Given the description of an element on the screen output the (x, y) to click on. 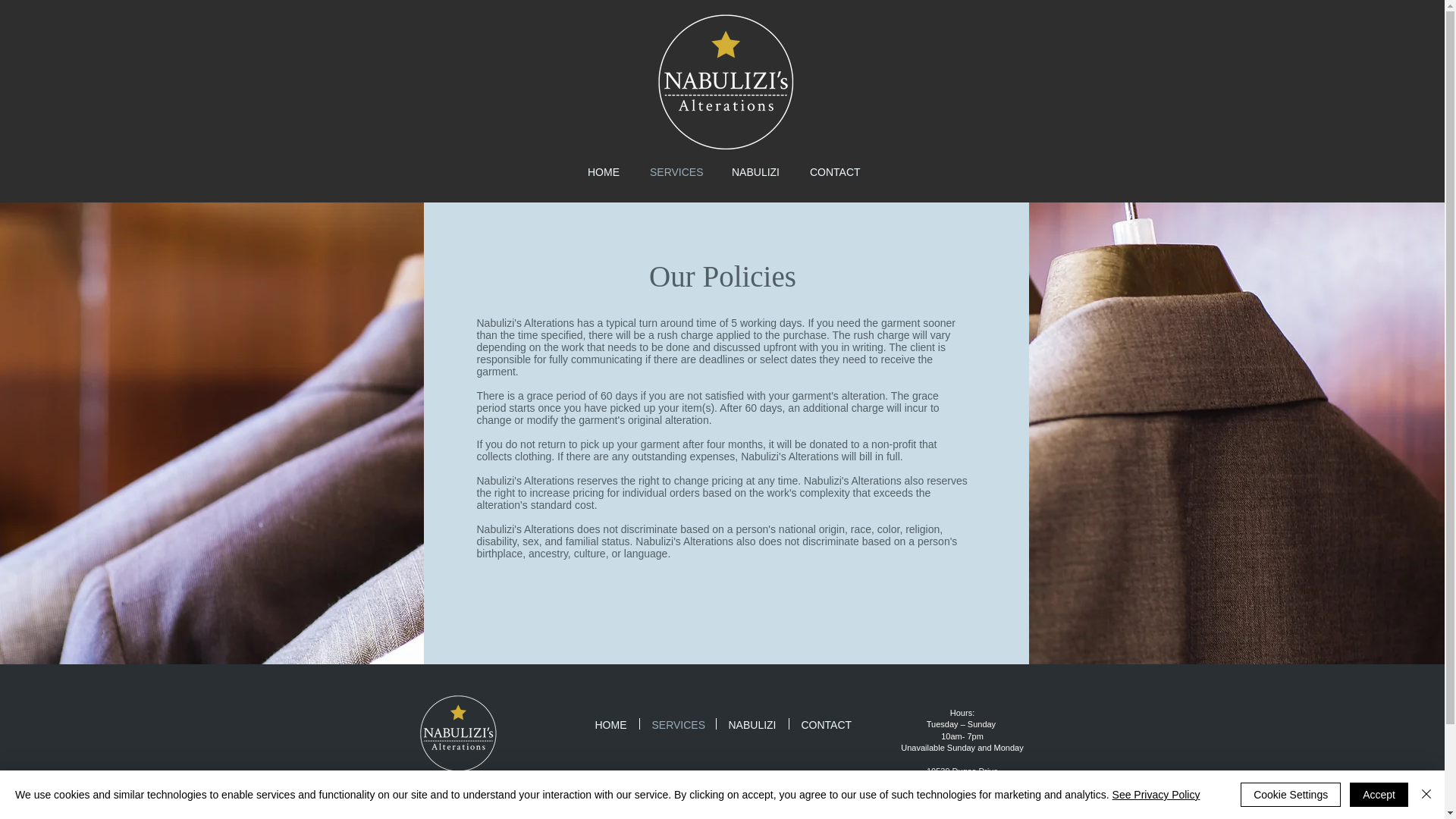
CONTACT (825, 723)
SERVICES (678, 723)
NABULIZI (751, 723)
NABULIZI (755, 170)
HOME (610, 723)
See Privacy Policy (1155, 794)
Accept (1378, 794)
CONTACT (833, 170)
Cookie Settings (1290, 794)
HOME (603, 170)
SERVICES (675, 170)
